Given the description of an element on the screen output the (x, y) to click on. 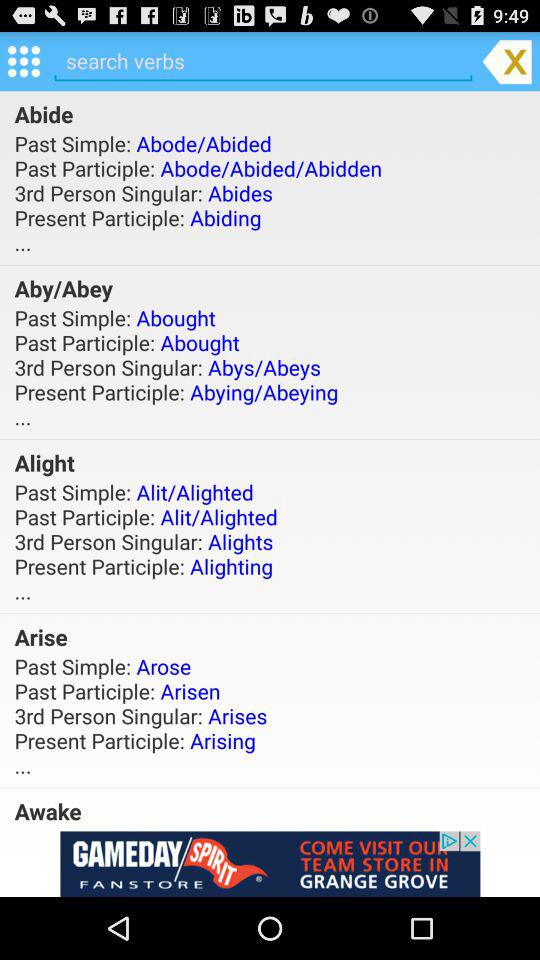
search verbs (263, 60)
